Given the description of an element on the screen output the (x, y) to click on. 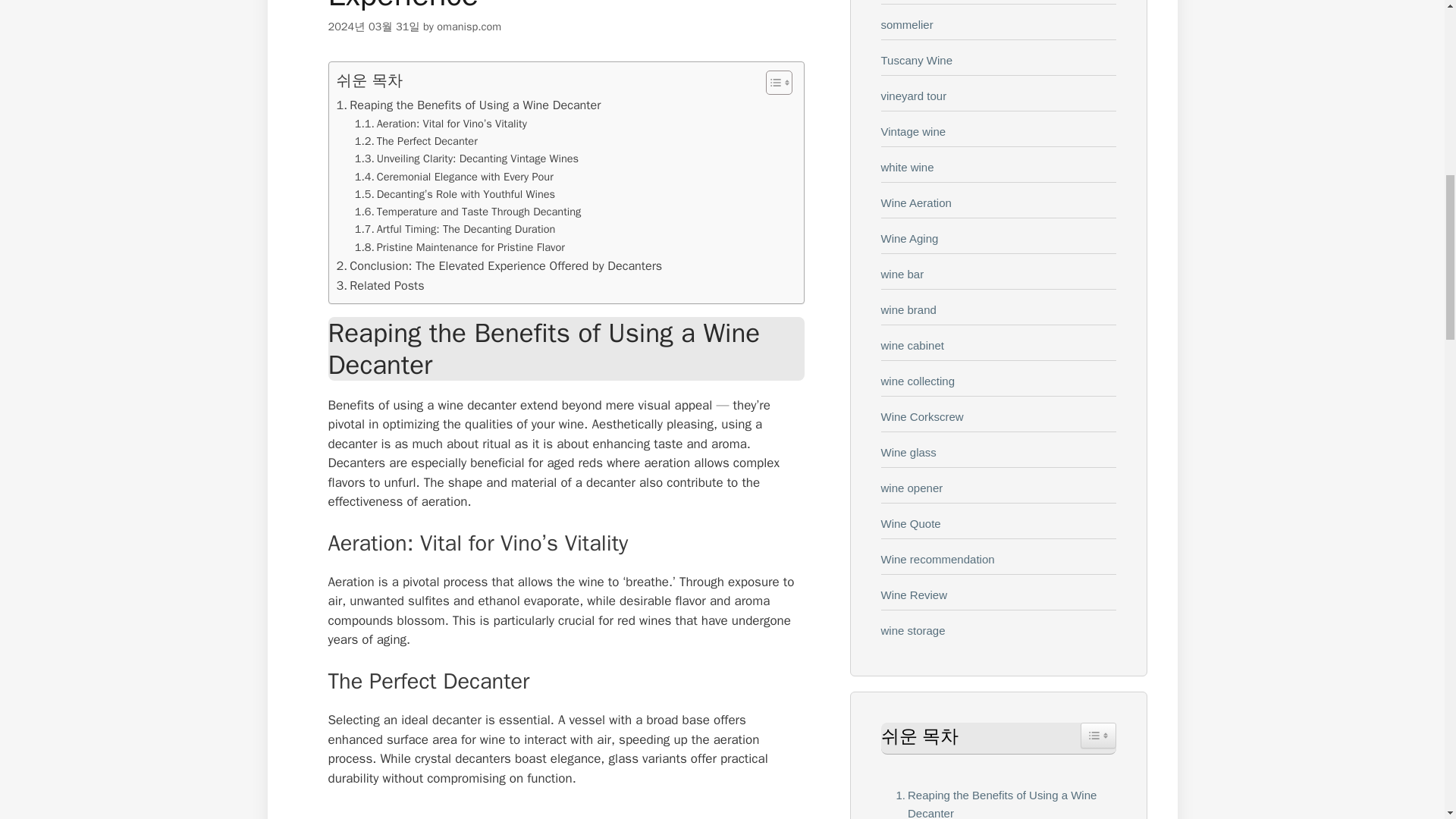
Temperature and Taste Through Decanting (467, 211)
Reaping the Benefits of Using a Wine Decanter (998, 802)
Pristine Maintenance for Pristine Flavor (459, 247)
Artful Timing: The Decanting Duration (455, 229)
Reaping the Benefits of Using a Wine Decanter (468, 105)
Unveiling Clarity: Decanting Vintage Wines (466, 158)
Artful Timing: The Decanting Duration (455, 229)
Ceremonial Elegance with Every Pour (454, 176)
The Perfect Decanter (416, 140)
Conclusion: The Elevated Experience Offered by Decanters (499, 266)
